Given the description of an element on the screen output the (x, y) to click on. 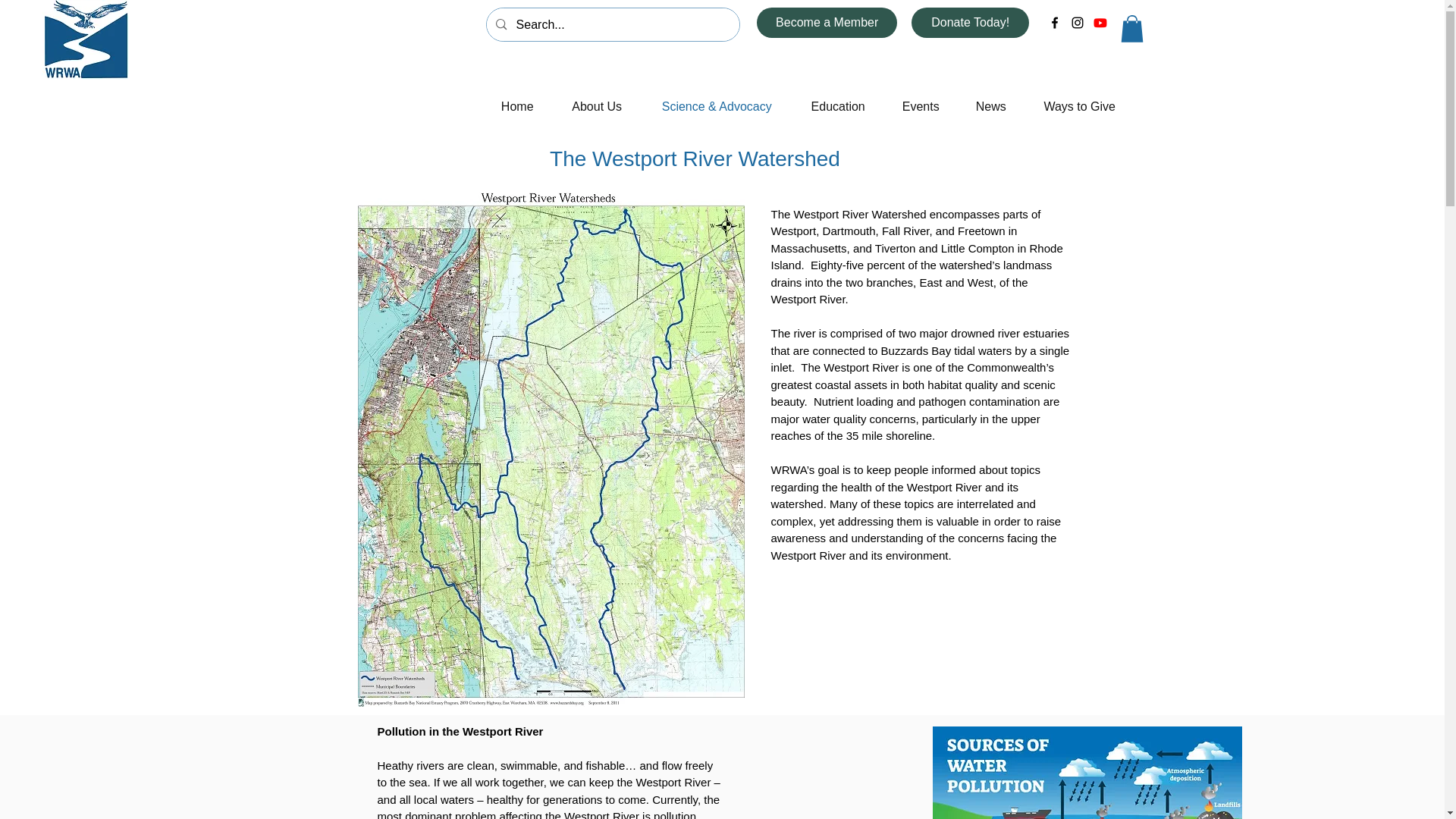
Ways to Give (1079, 106)
Home (516, 106)
Become a Member (826, 22)
Events (919, 106)
Donate Today! (970, 22)
News (990, 106)
Education (837, 106)
About Us (596, 106)
